Given the description of an element on the screen output the (x, y) to click on. 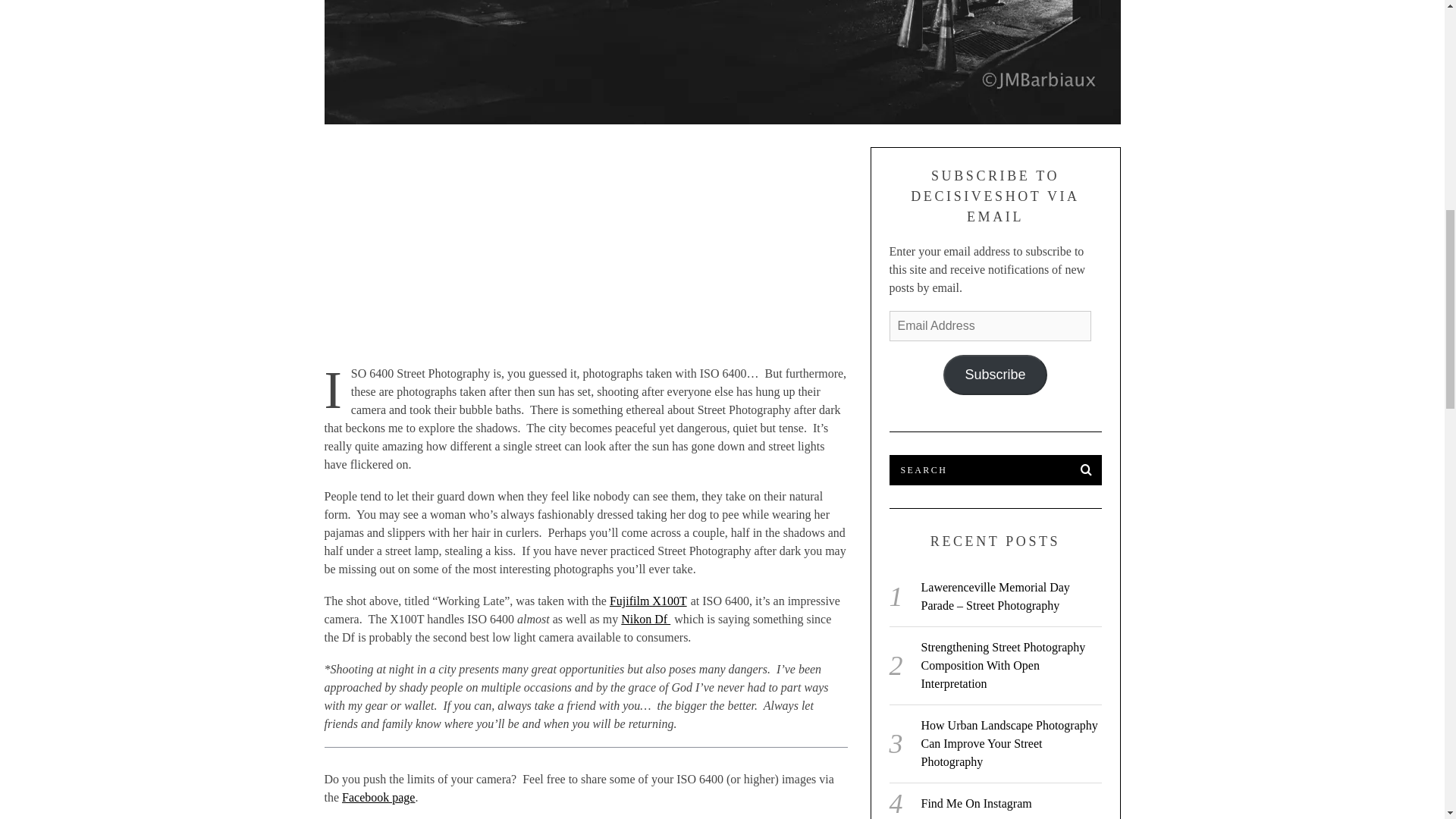
Fujifilm X100T (648, 600)
Facebook page (378, 797)
Search (994, 470)
Nikon Df (645, 618)
PhotolisticLife's Facebook Page (378, 797)
